Given the description of an element on the screen output the (x, y) to click on. 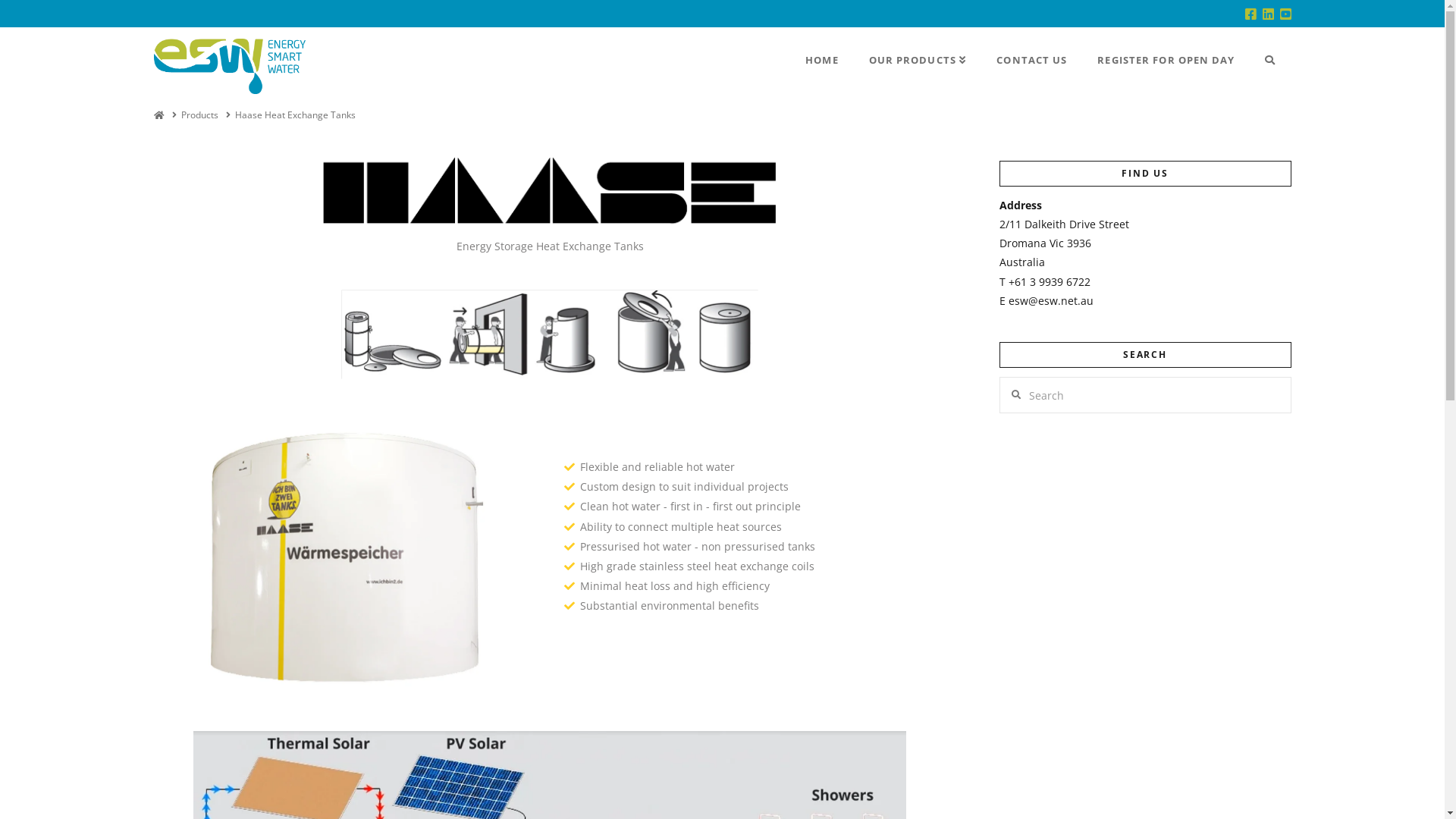
Haase Heat Exchange Tanks Element type: text (295, 115)
YouTube Element type: hover (1285, 13)
Facebook Element type: hover (1250, 13)
HOME Element type: text (821, 61)
LinkedIn Element type: hover (1267, 13)
Products Element type: text (199, 115)
REGISTER FOR OPEN DAY Element type: text (1165, 61)
Home Element type: text (158, 115)
OUR PRODUCTS Element type: text (917, 61)
CONTACT US Element type: text (1031, 61)
